Given the description of an element on the screen output the (x, y) to click on. 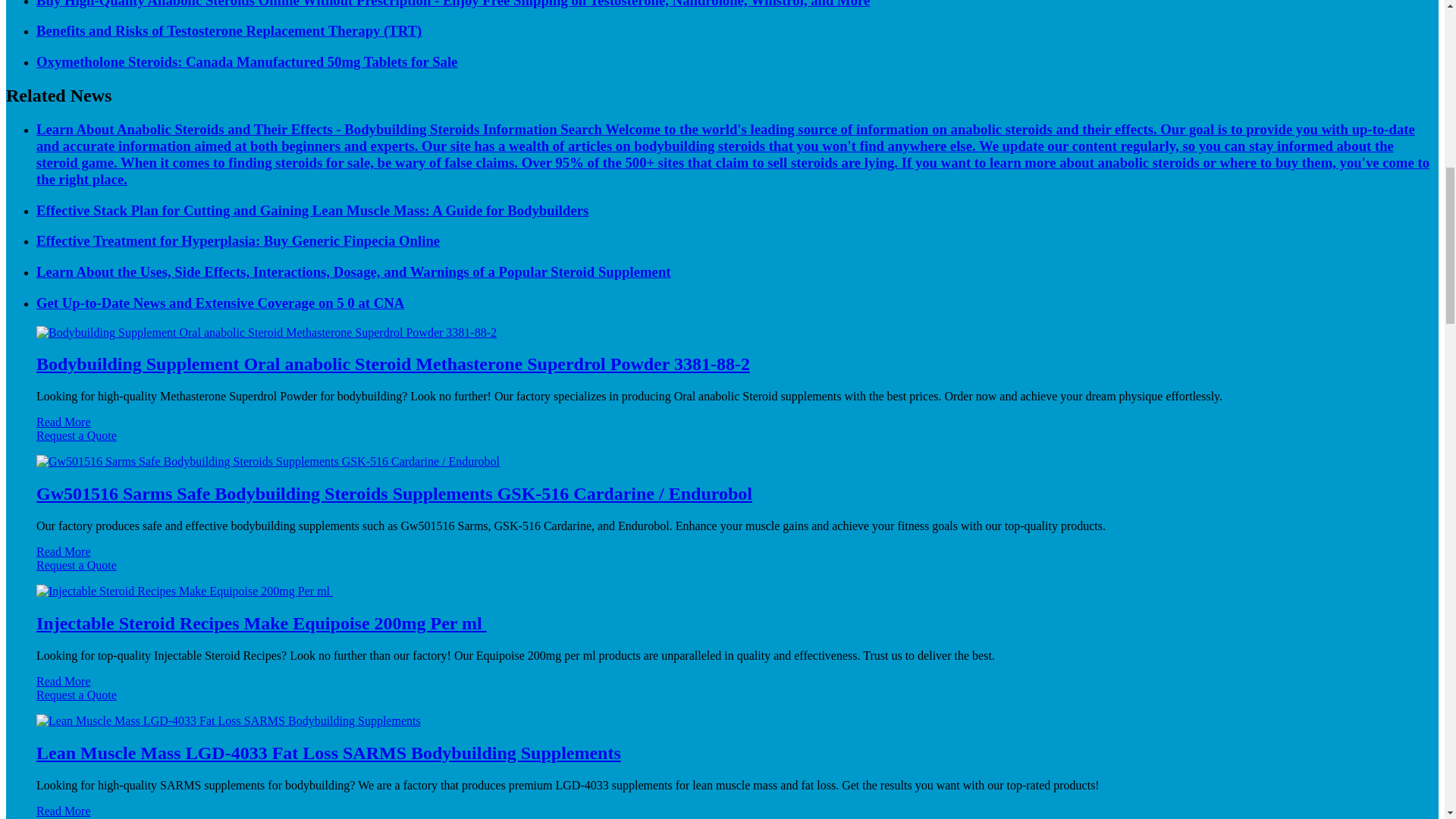
Request a Quote (721, 442)
Read More (63, 421)
